Given the description of an element on the screen output the (x, y) to click on. 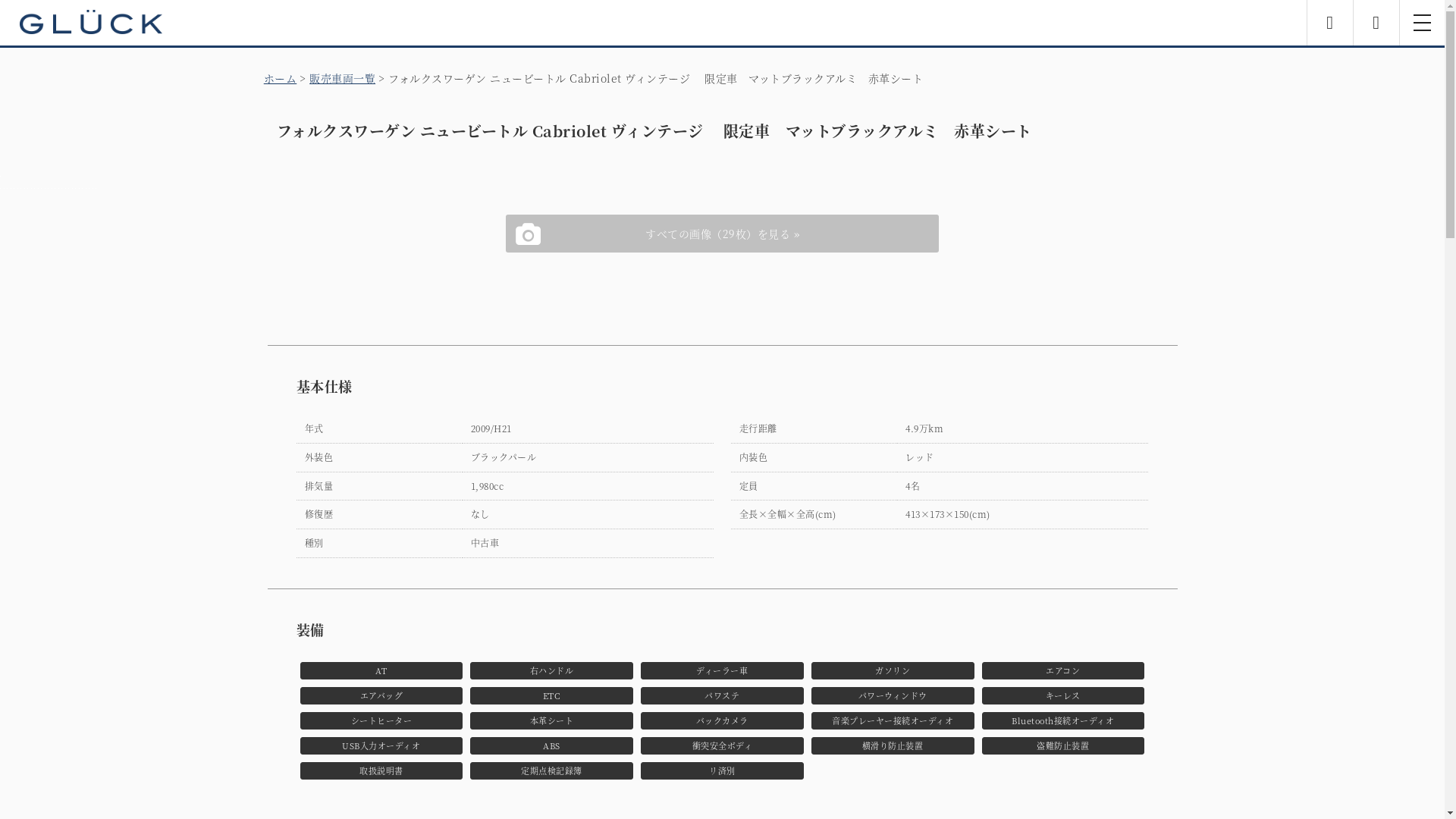
Facebook Element type: text (1329, 22)
toggle navigation Element type: text (1421, 22)
Instagram Element type: text (1376, 22)
